Given the description of an element on the screen output the (x, y) to click on. 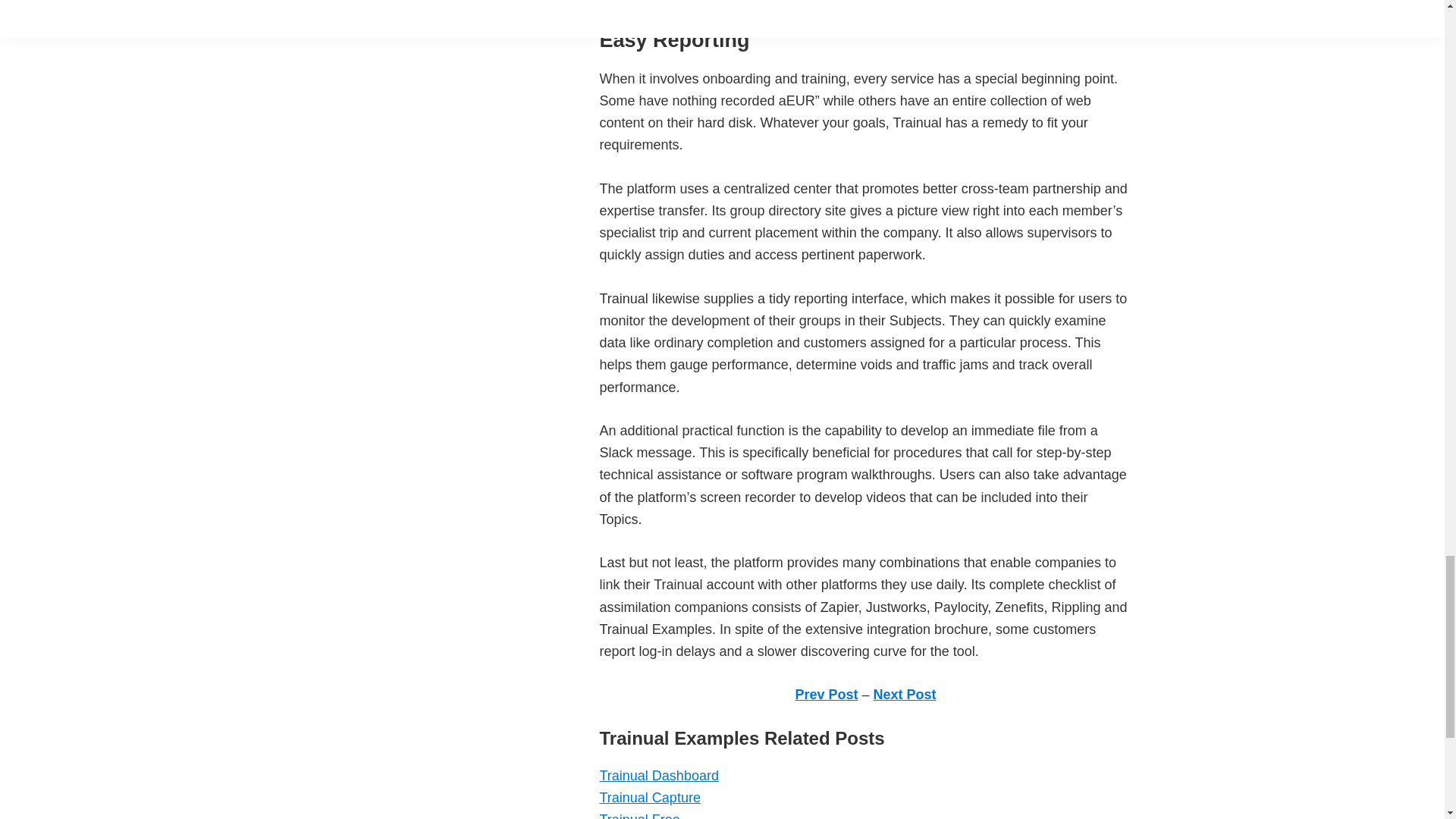
Trainual Free (638, 815)
Trainual Capture (649, 797)
Trainual Free (638, 815)
Next Post (904, 694)
Trainual Dashboard (657, 775)
Prev Post (825, 694)
Trainual Dashboard (657, 775)
Trainual Capture (649, 797)
